Given the description of an element on the screen output the (x, y) to click on. 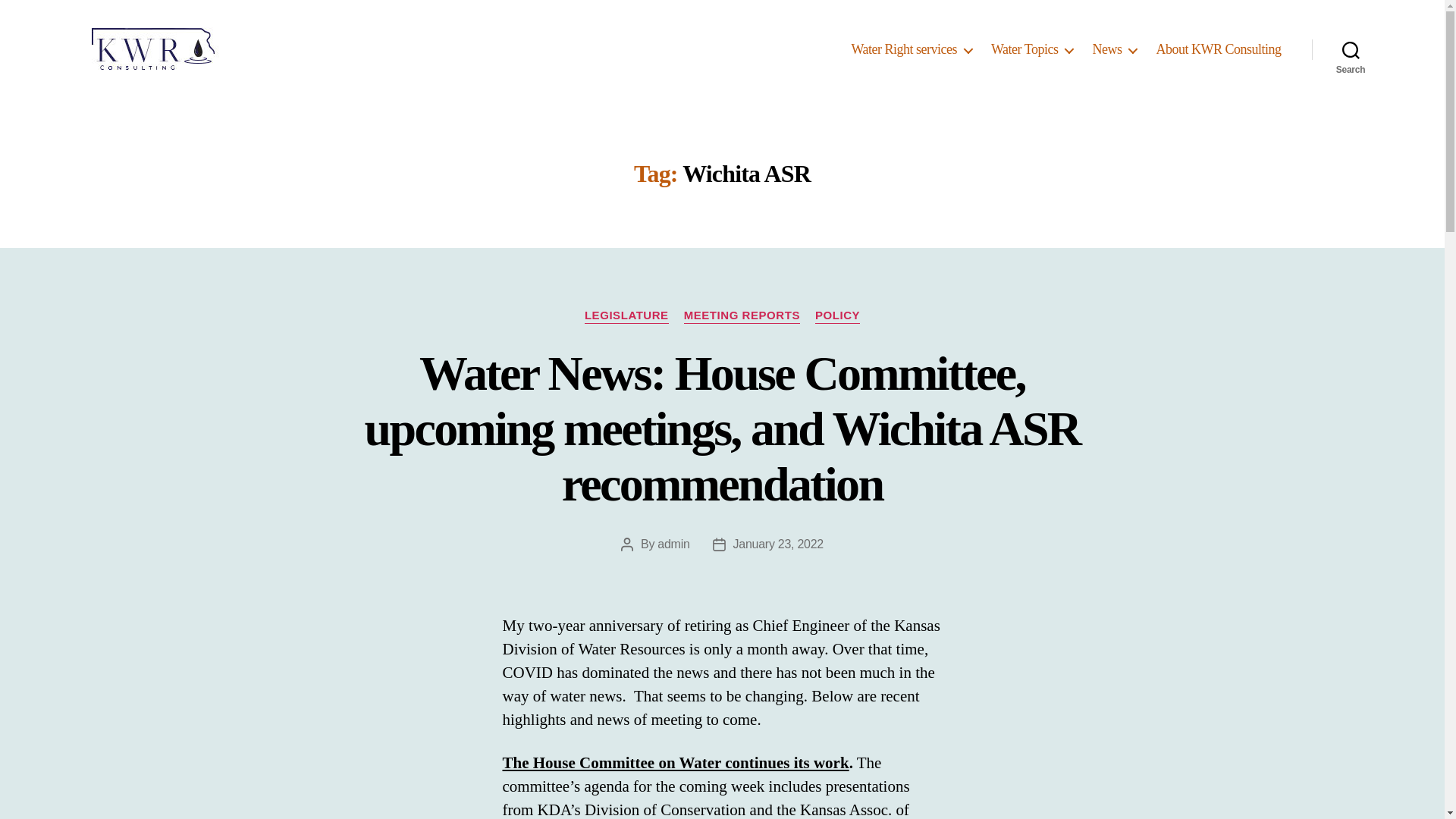
Search (1350, 49)
Water Right services (911, 49)
About KWR Consulting (1218, 49)
Water Topics (1032, 49)
News (1114, 49)
